Given the description of an element on the screen output the (x, y) to click on. 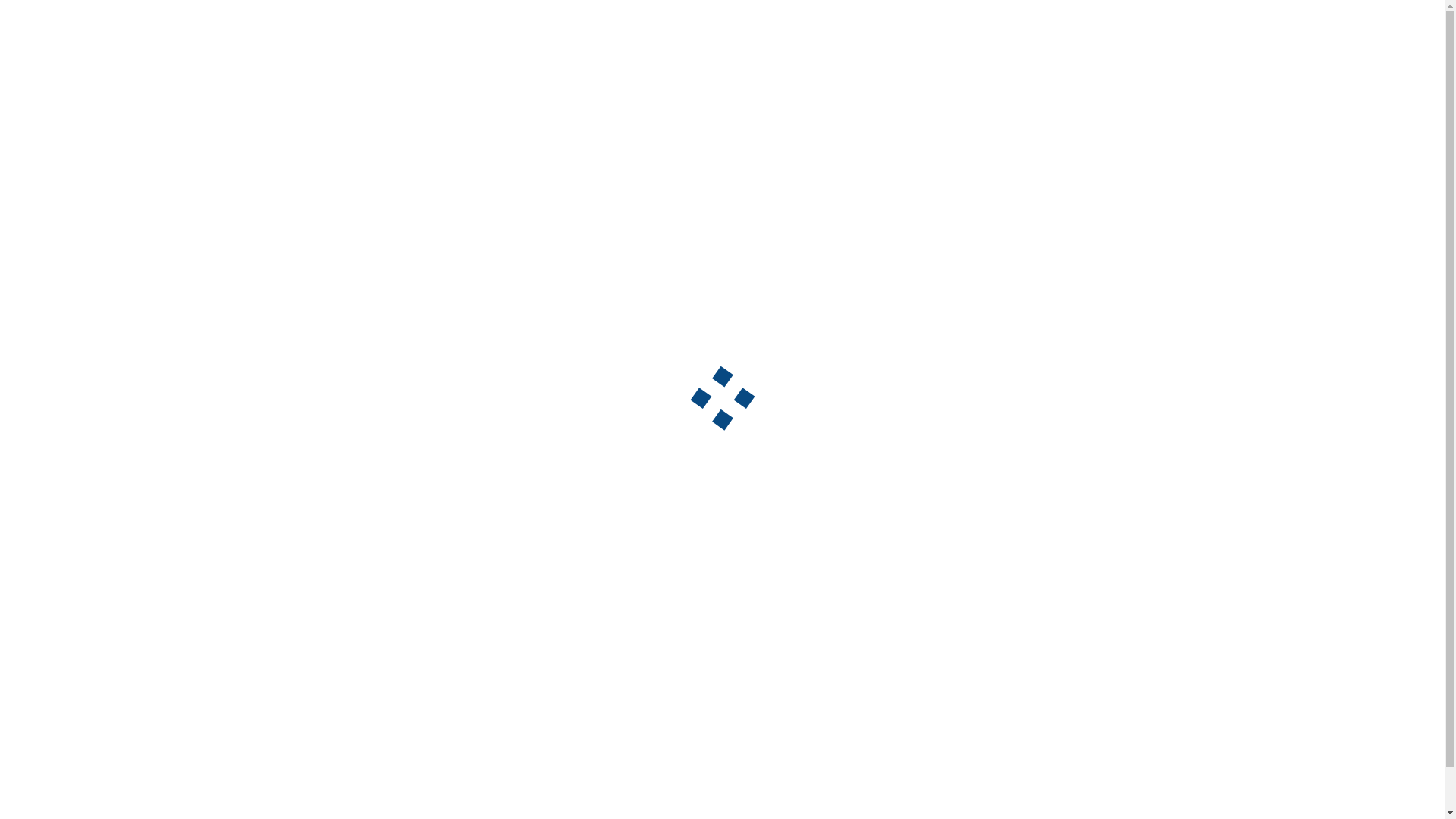
Home Element type: text (548, 543)
GET QUOTE Element type: text (1371, 15)
Services Element type: text (553, 621)
Packages Element type: text (558, 647)
hr@kvapower.com.au Element type: text (654, 402)
About Us Element type: text (556, 569)
Pay Now Element type: text (555, 751)
info@kvapower.com.au Element type: text (835, 621)
Carrers Element type: text (552, 699)
Products Element type: text (556, 673)
Home Element type: text (1079, 156)
Contact Us Element type: text (561, 725)
How Solar Works Element type: text (576, 595)
